Given the description of an element on the screen output the (x, y) to click on. 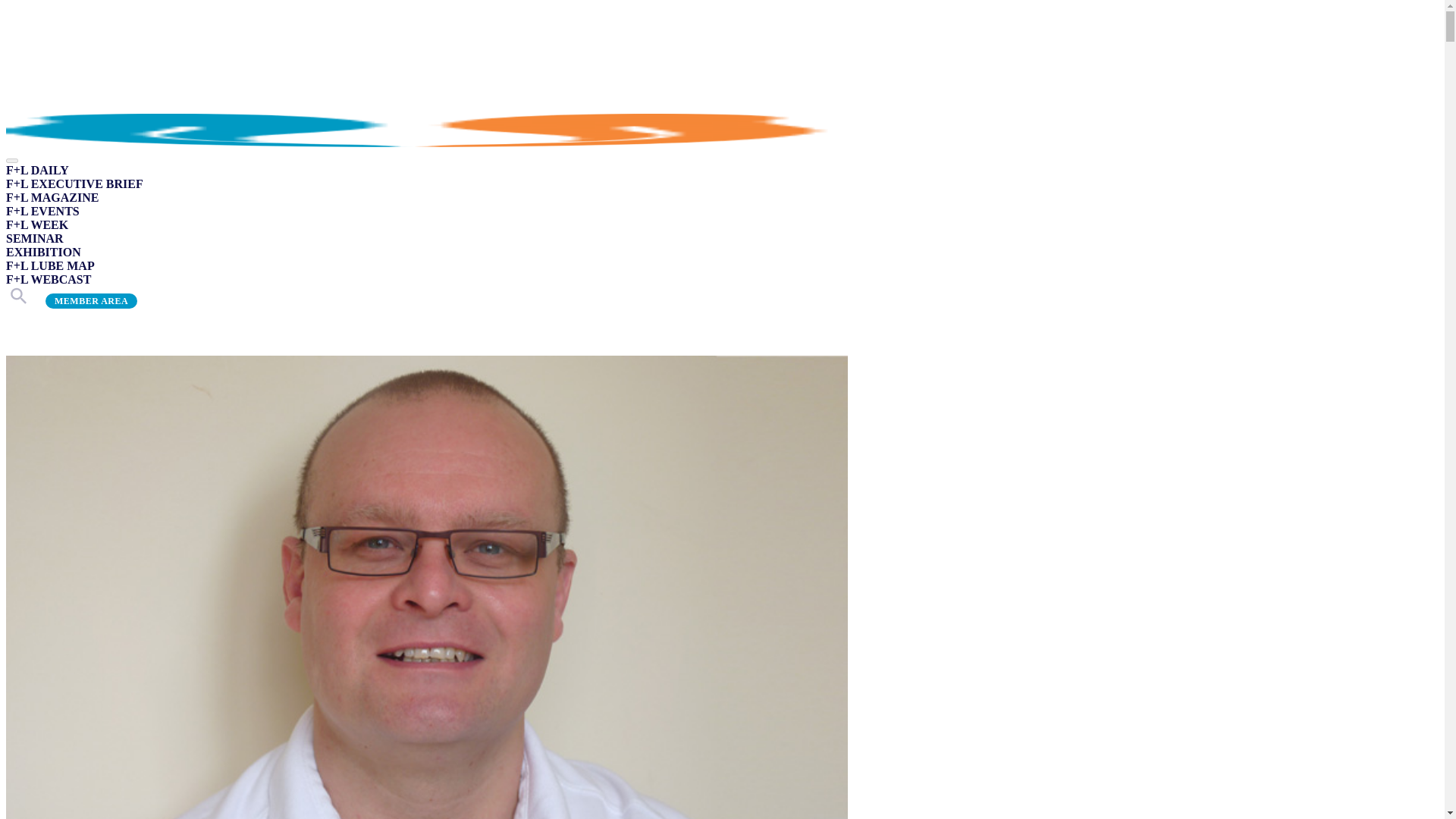
EXHIBITION (43, 251)
SEMINAR (34, 237)
MEMBER AREA (90, 300)
